Given the description of an element on the screen output the (x, y) to click on. 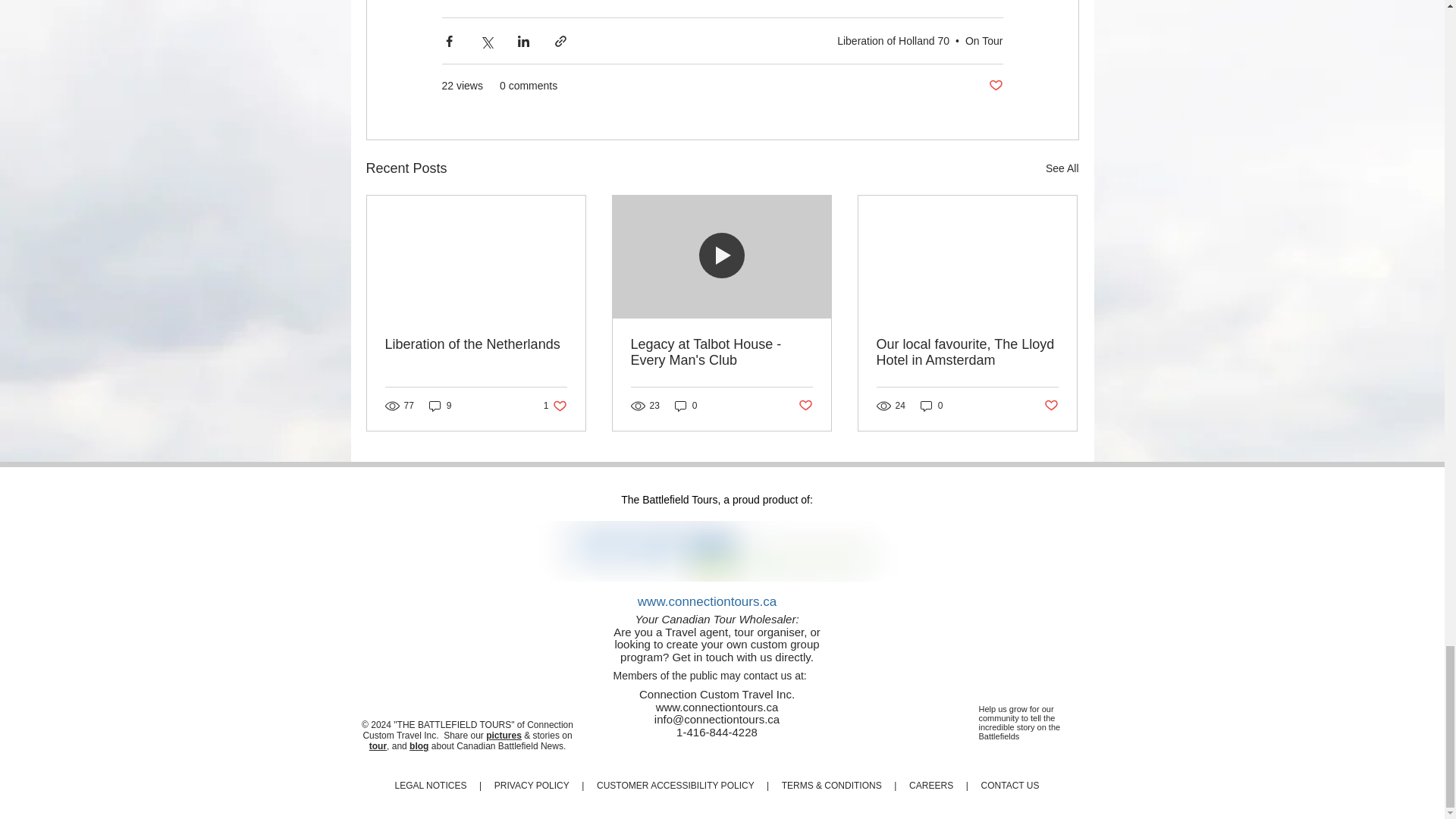
Liberation of Holland 70 (893, 39)
On Tour (984, 39)
